Given the description of an element on the screen output the (x, y) to click on. 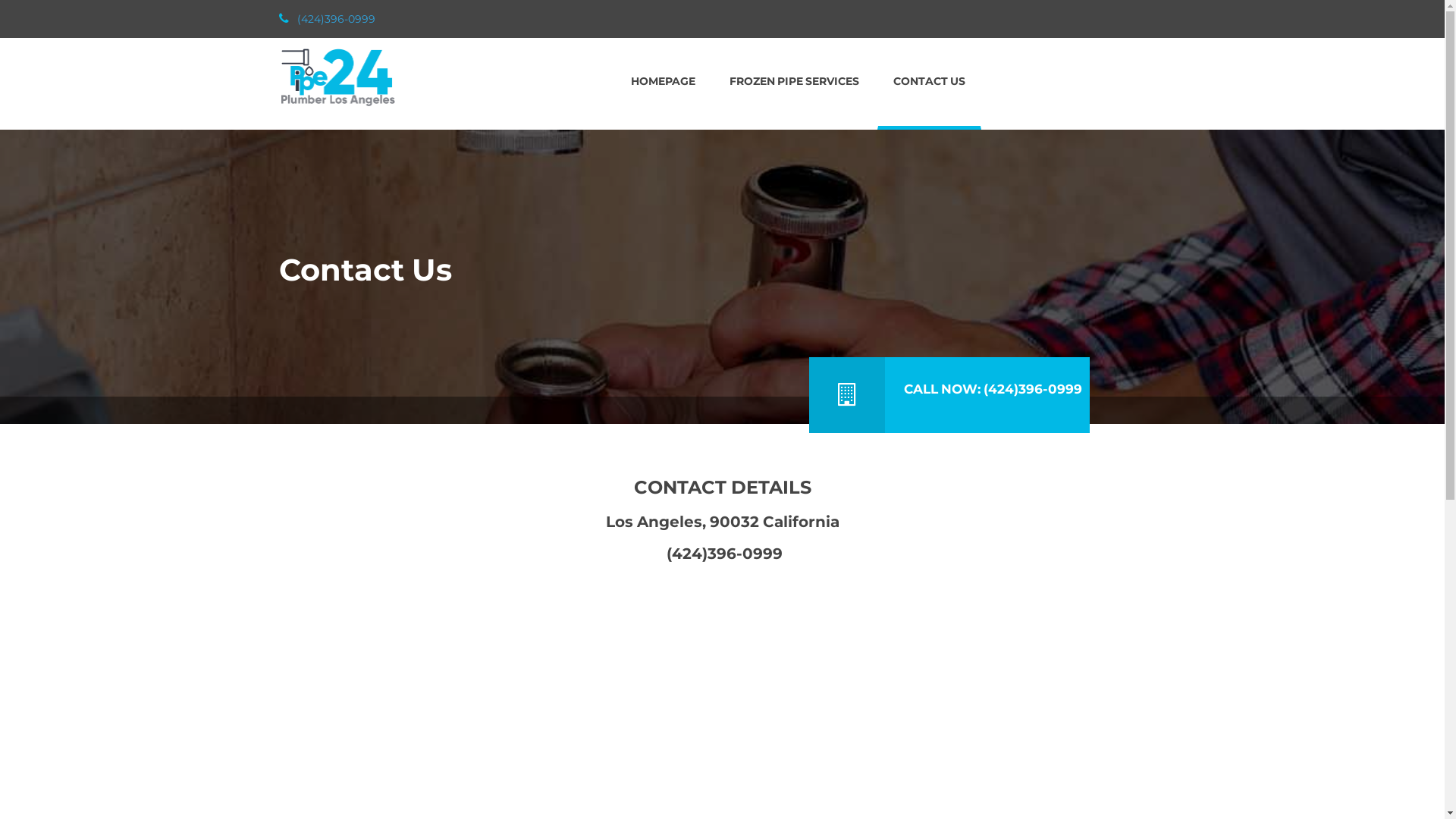
Search Element type: text (39, 18)
(424)396-0999 Element type: text (723, 553)
(424)396-0999 Element type: text (328, 18)
Pipe24 Plumber Los Angeles - Just another WordPress site Element type: hover (337, 74)
FROZEN PIPE SERVICES Element type: text (794, 81)
CONTACT US Element type: text (929, 81)
HOMEPAGE Element type: text (662, 81)
